Given the description of an element on the screen output the (x, y) to click on. 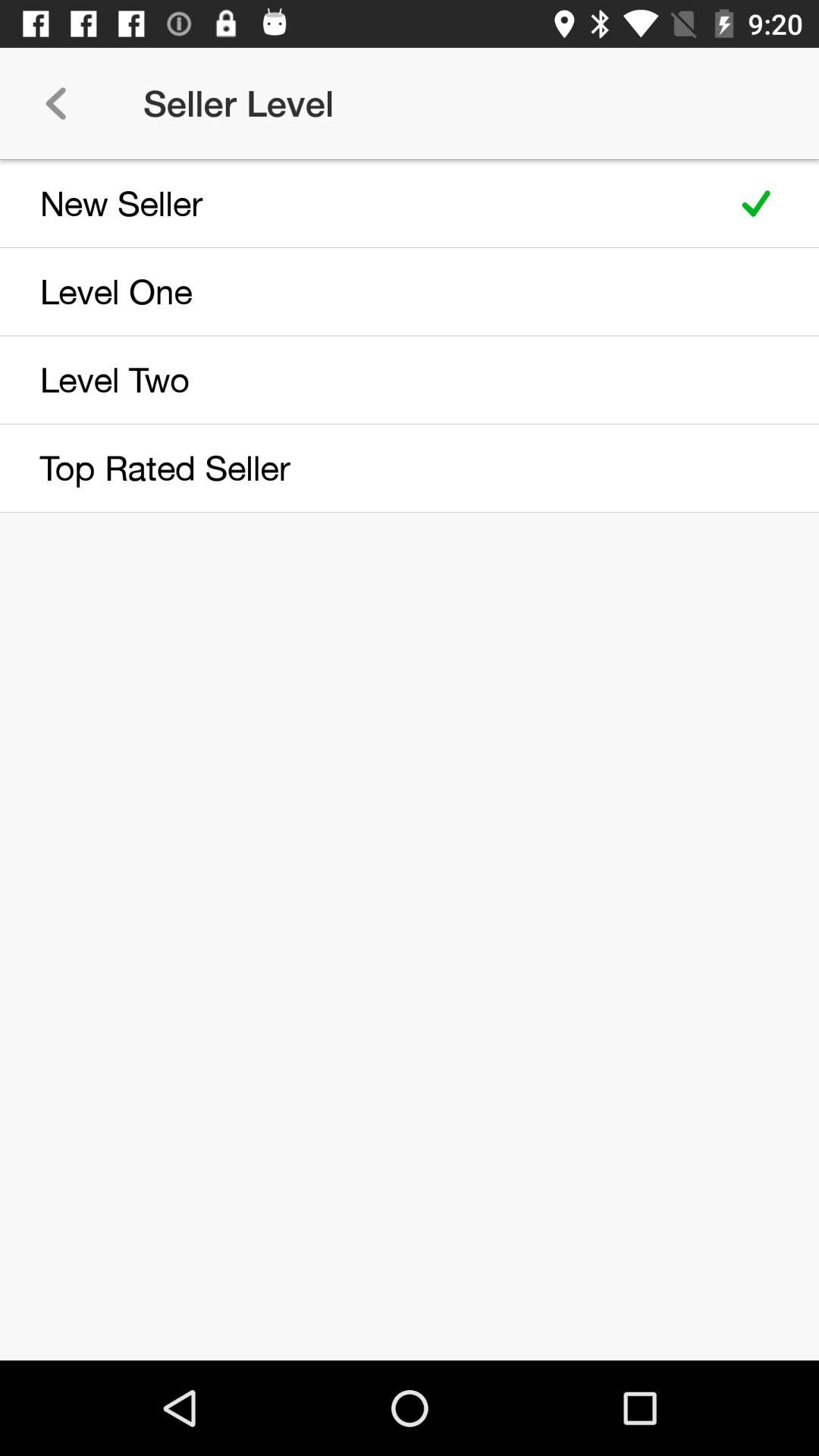
open top rated seller icon (358, 467)
